Given the description of an element on the screen output the (x, y) to click on. 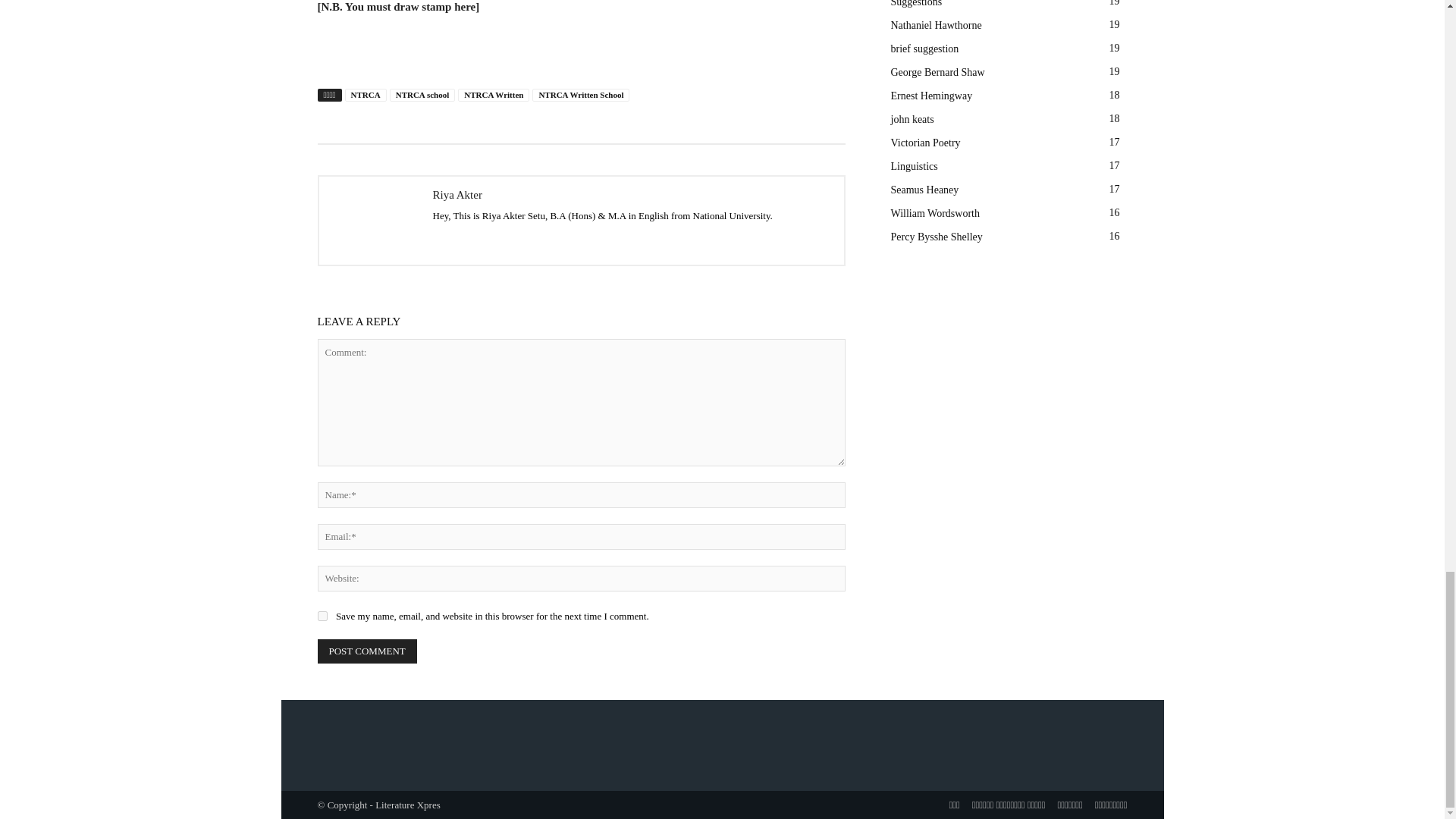
yes (321, 615)
Post Comment (366, 651)
Riya Akter (371, 220)
